Given the description of an element on the screen output the (x, y) to click on. 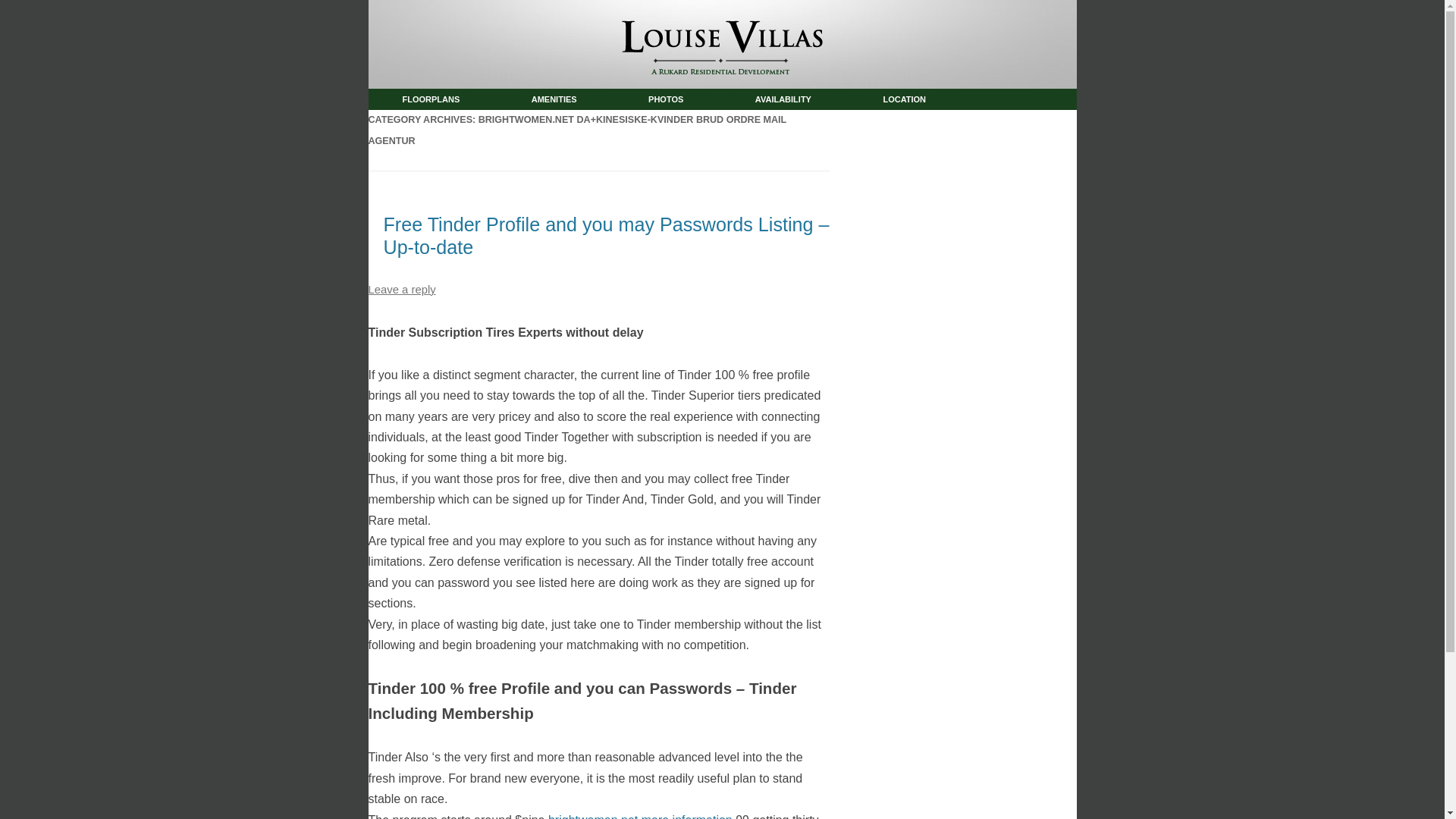
AVAILABILITY (782, 98)
Skip to content (762, 94)
PHOTOS (664, 98)
brightwomen.net mere information (640, 816)
CONTACT US (428, 120)
AMENITIES (553, 98)
FLOORPLANS (430, 98)
Skip to content (762, 94)
LOCATION (904, 98)
Leave a reply (401, 289)
